Given the description of an element on the screen output the (x, y) to click on. 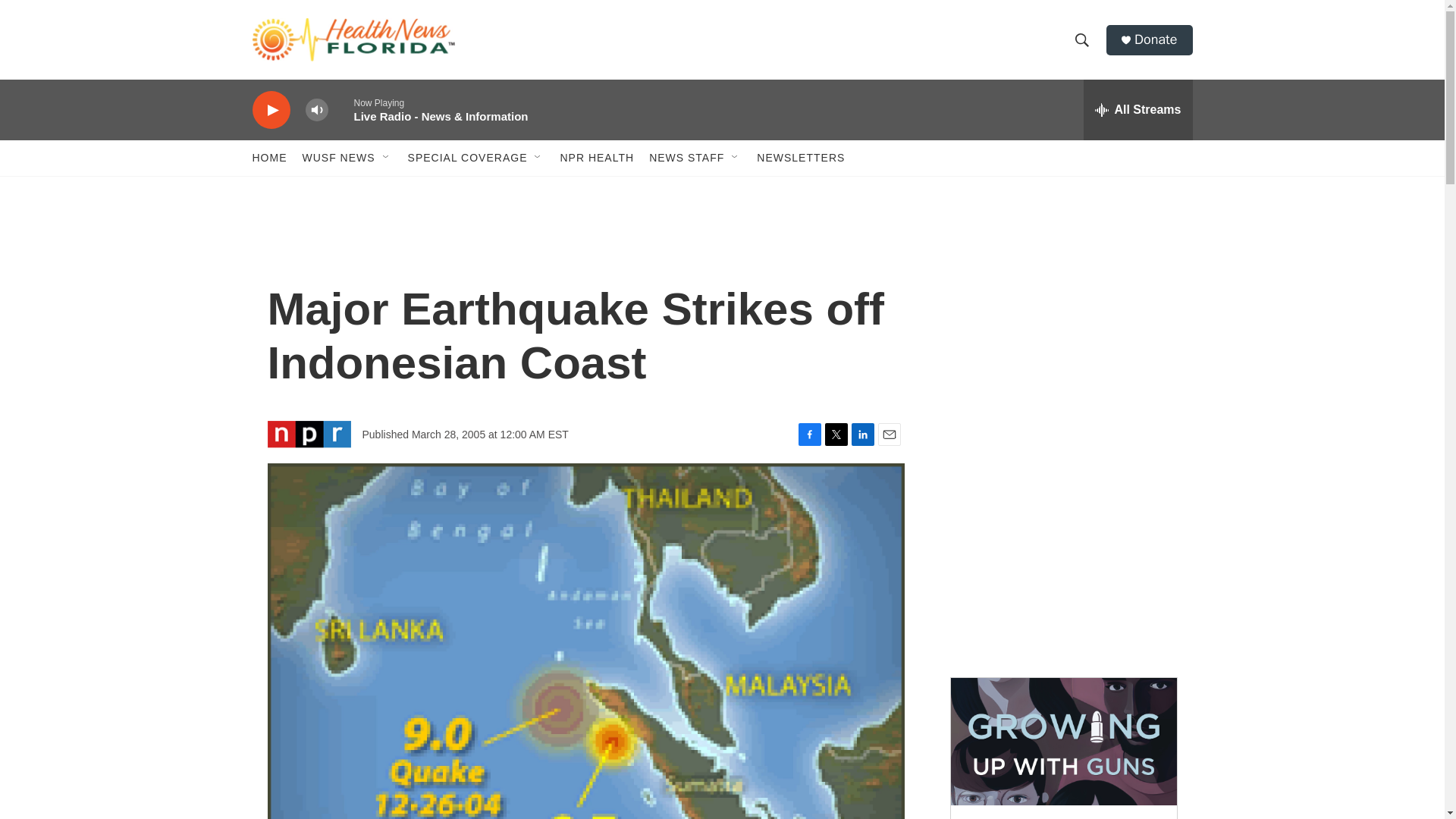
3rd party ad content (1062, 331)
3rd party ad content (1062, 552)
